Given the description of an element on the screen output the (x, y) to click on. 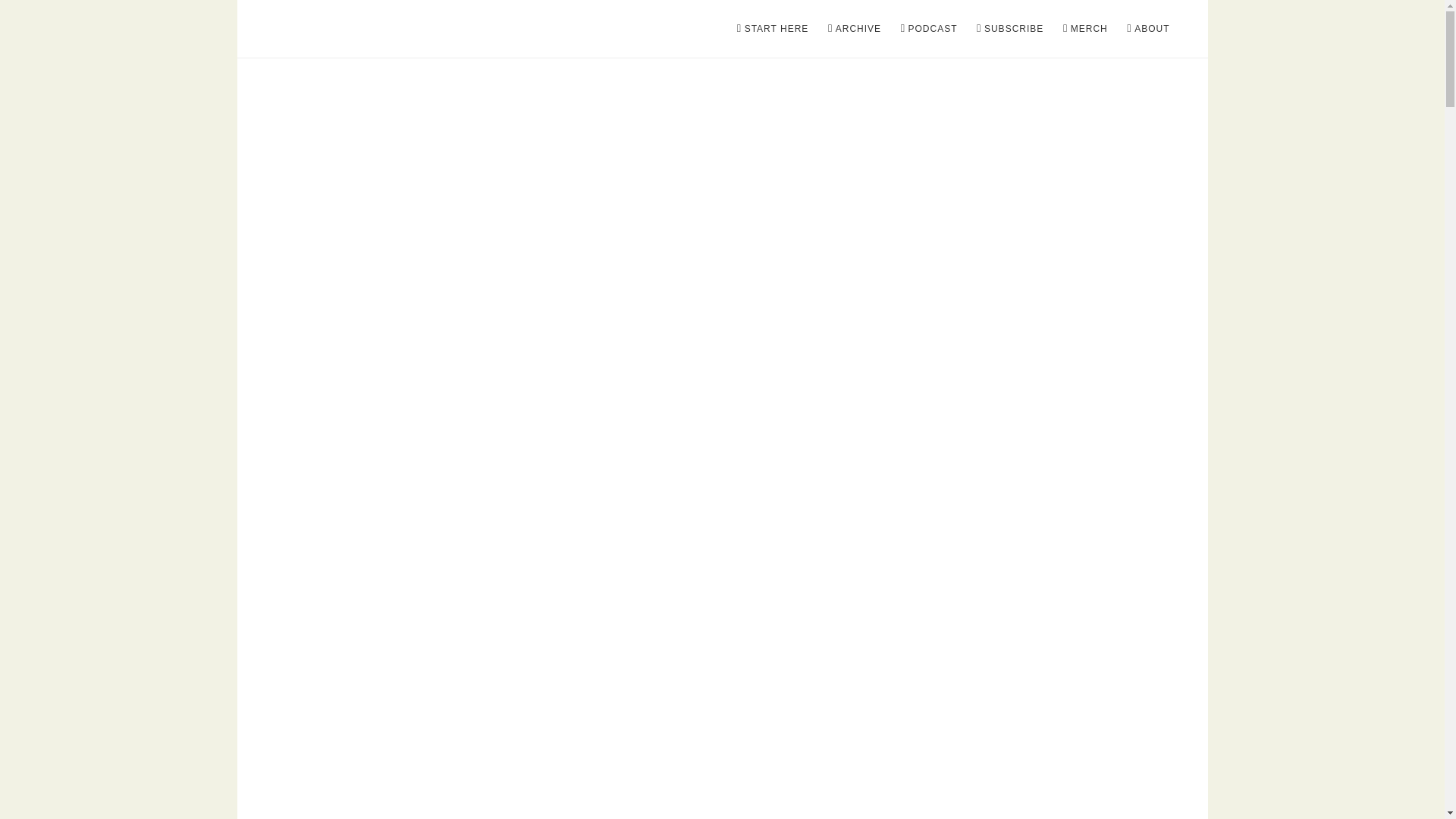
Read the article archive (854, 28)
ABOUT (1147, 28)
Find out about Larry Maguire and how to work with him (1147, 28)
MERCH (1085, 28)
START HERE (772, 28)
SUBSCRIBE (1010, 28)
PODCAST (929, 28)
New to the site? Start here (772, 28)
Subscribe to Sunday Letters for free (1010, 28)
